Given the description of an element on the screen output the (x, y) to click on. 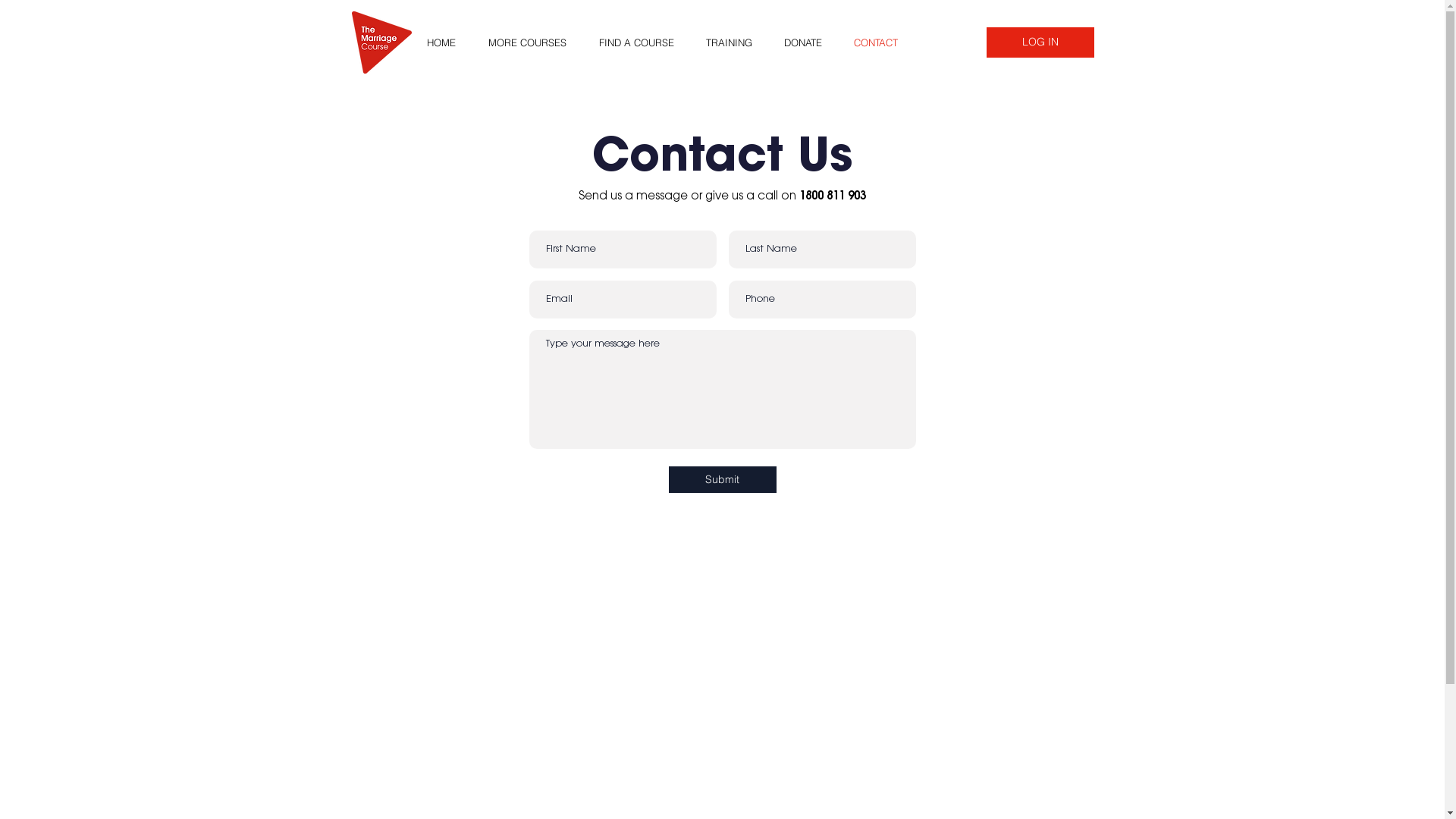
MORE COURSES Element type: text (531, 42)
1800 811 903 Element type: text (832, 196)
HOME Element type: text (445, 42)
Submit Element type: text (722, 479)
FIND A COURSE Element type: text (639, 42)
LOG IN Element type: text (1039, 42)
CONTACT Element type: text (879, 42)
TRAINING Element type: text (733, 42)
DONATE Element type: text (806, 42)
